Given the description of an element on the screen output the (x, y) to click on. 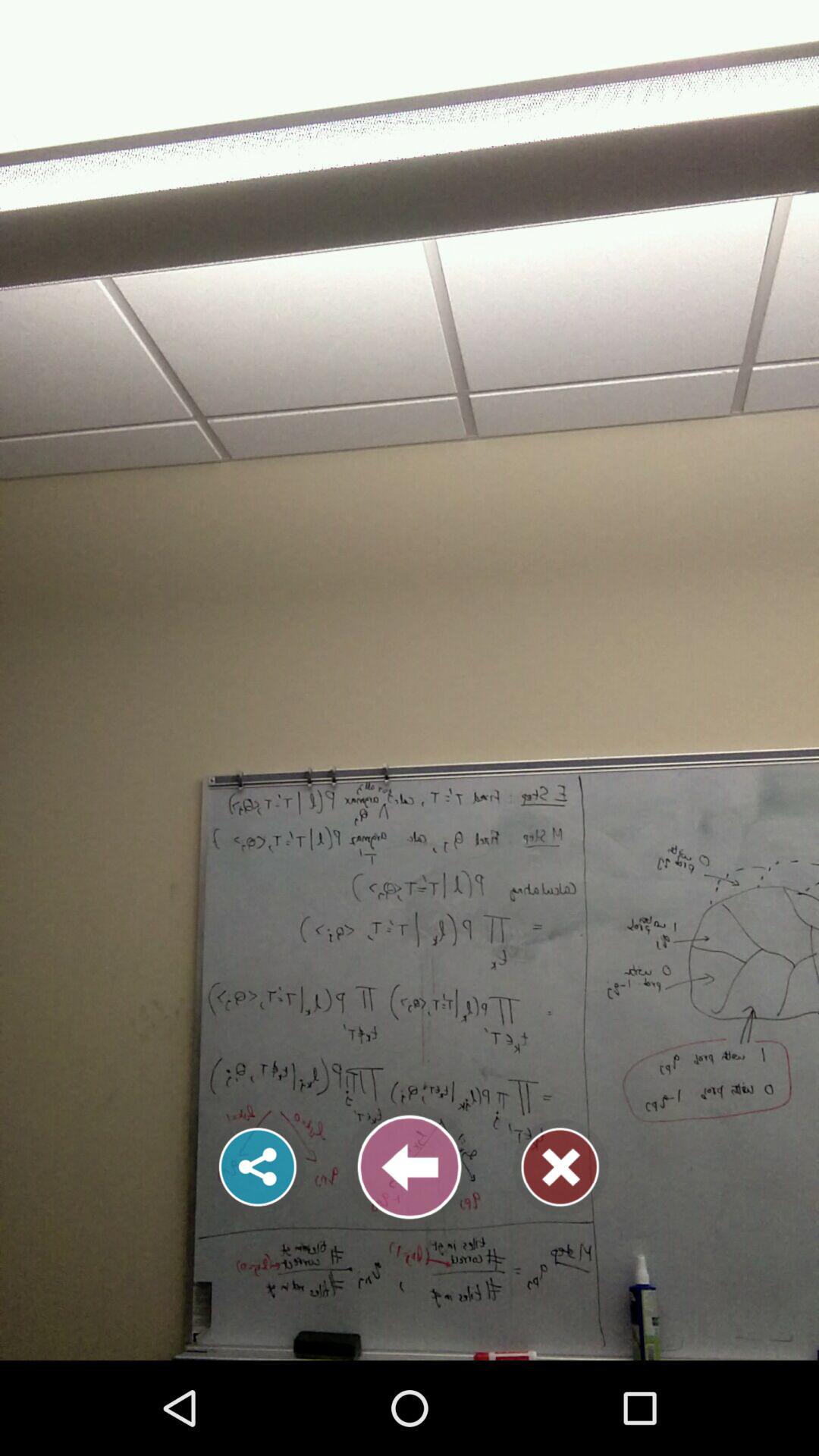
share this page (257, 1166)
